Given the description of an element on the screen output the (x, y) to click on. 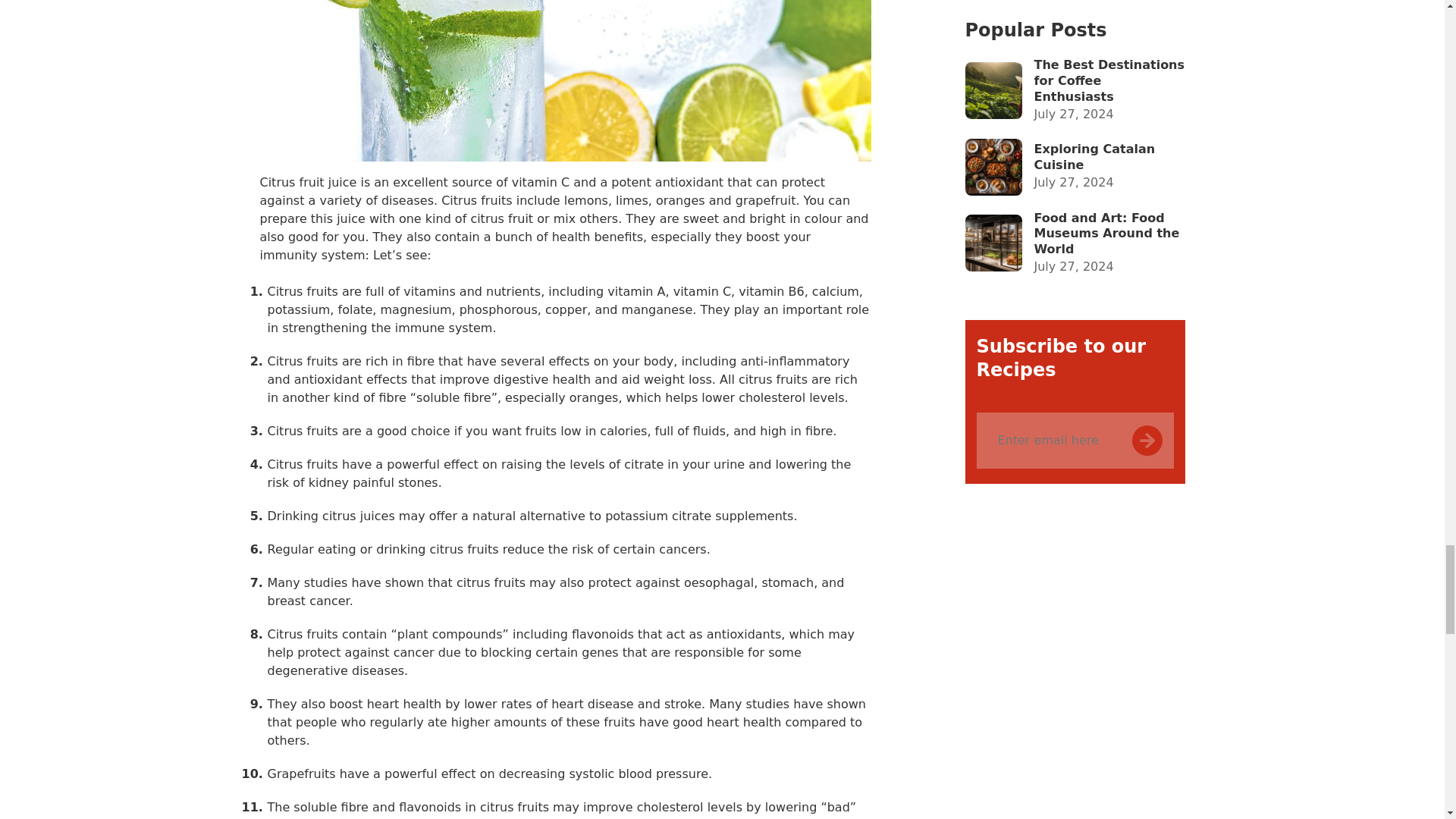
drink 1532300 960 720 (564, 80)
